Given the description of an element on the screen output the (x, y) to click on. 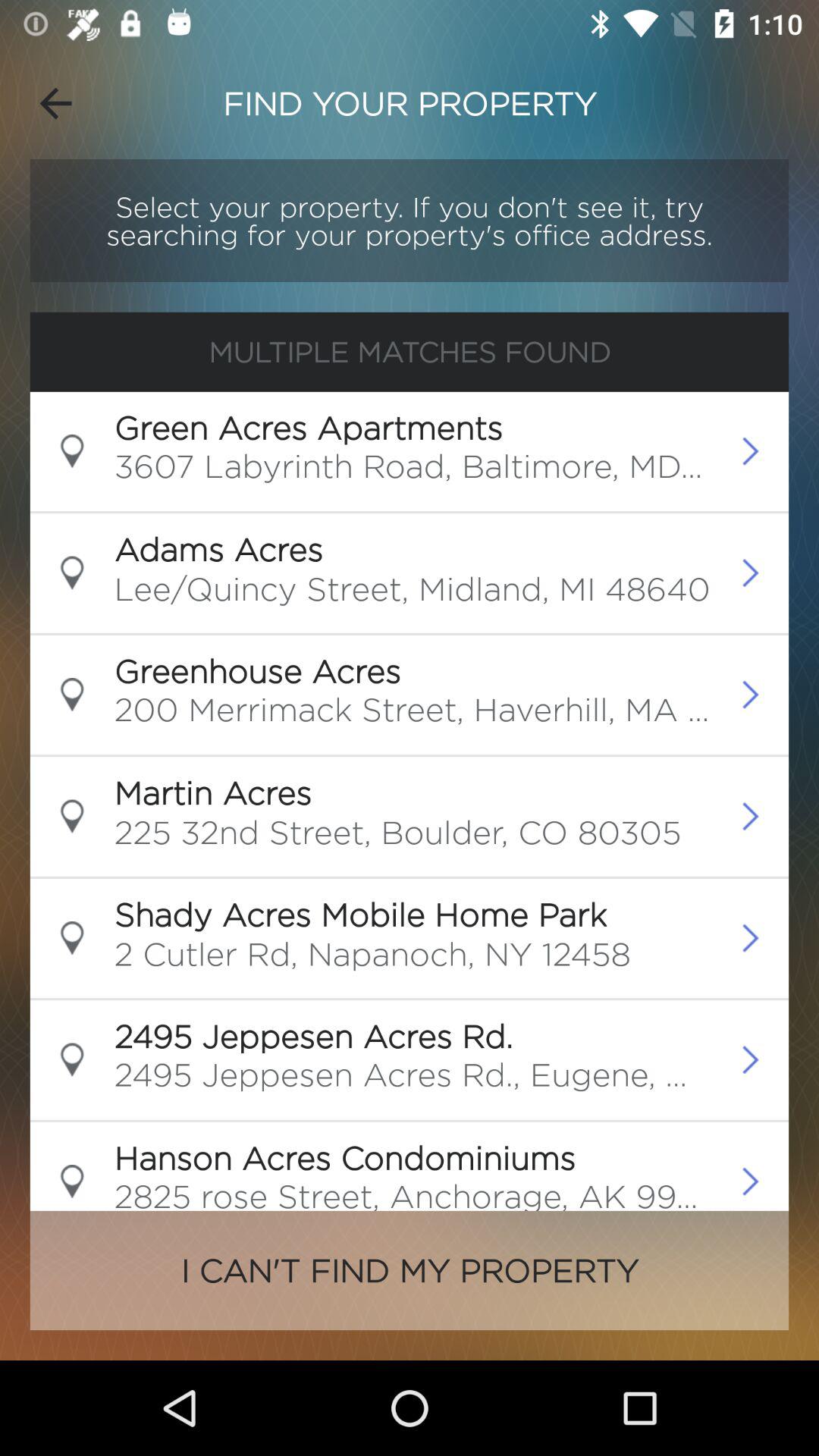
turn on the icon above 2 cutler rd icon (360, 913)
